Given the description of an element on the screen output the (x, y) to click on. 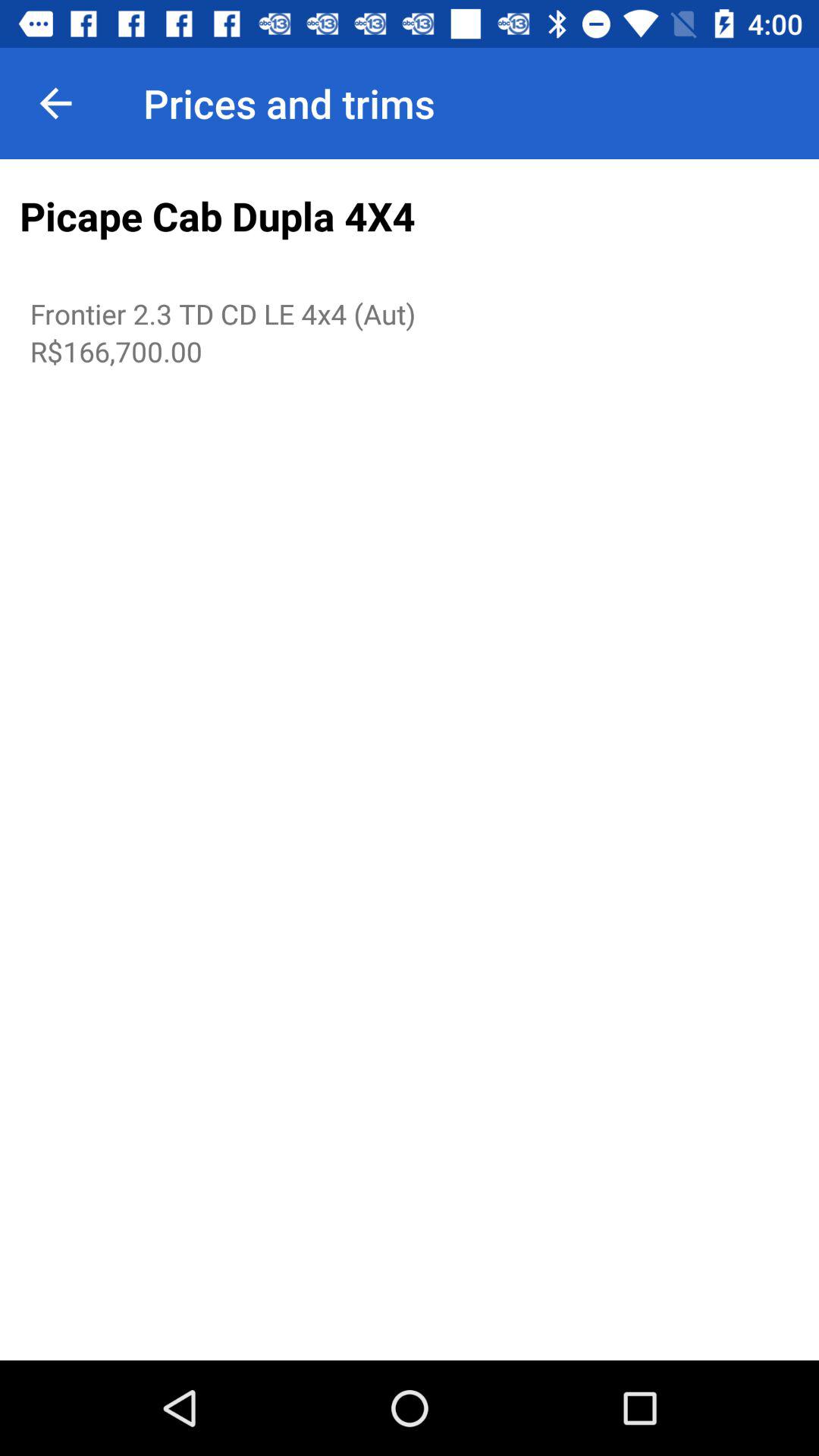
select icon next to prices and trims icon (55, 103)
